Given the description of an element on the screen output the (x, y) to click on. 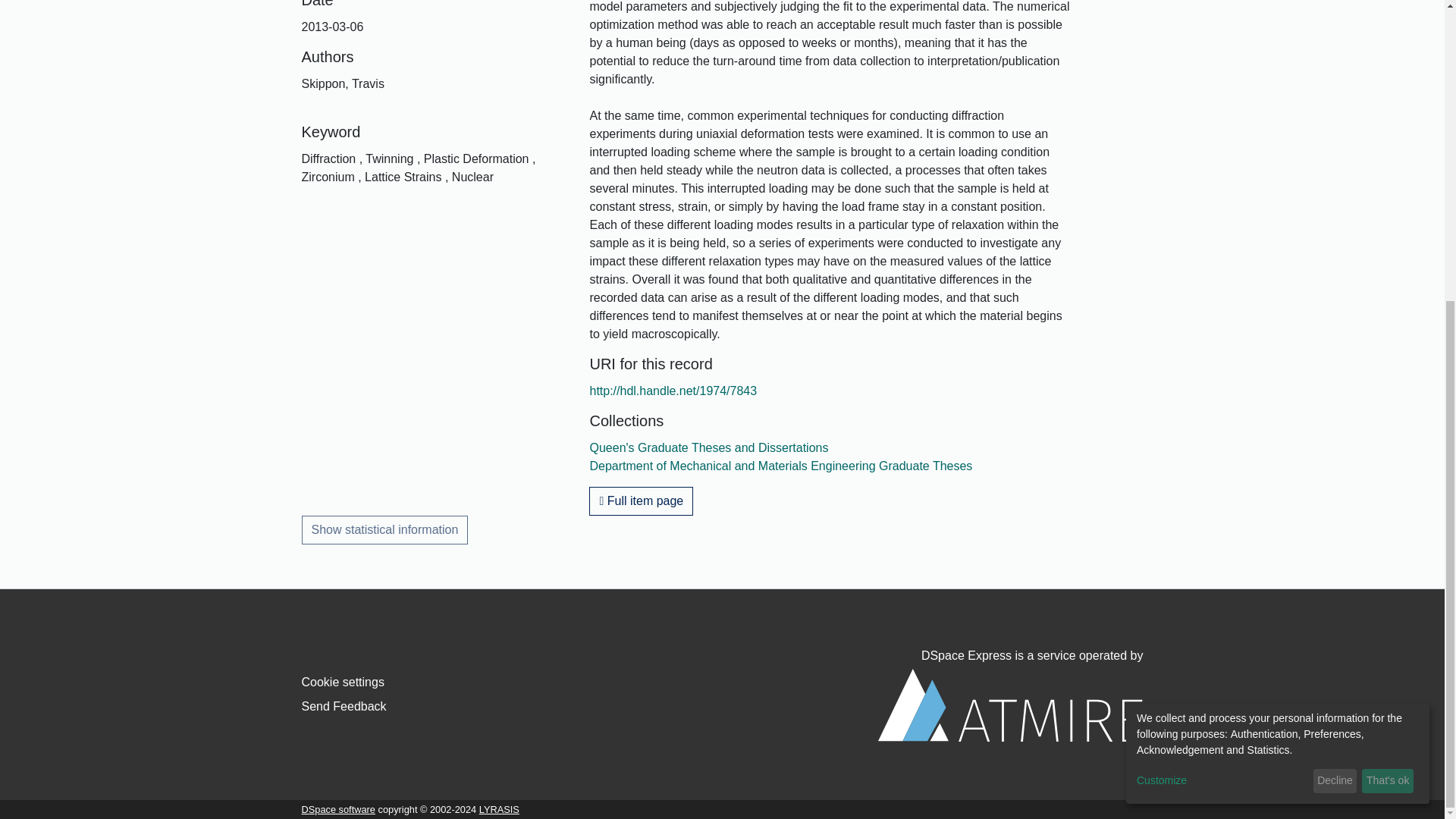
LYRASIS (499, 808)
That's ok (1387, 313)
DSpace Express is a service operated by (1009, 695)
DSpace software (338, 808)
Customize (1222, 312)
Queen's Graduate Theses and Dissertations (708, 447)
Send Feedback (344, 706)
Decline (1334, 313)
Cookie settings (342, 681)
Full item page (641, 500)
Show statistical information (384, 529)
